Given the description of an element on the screen output the (x, y) to click on. 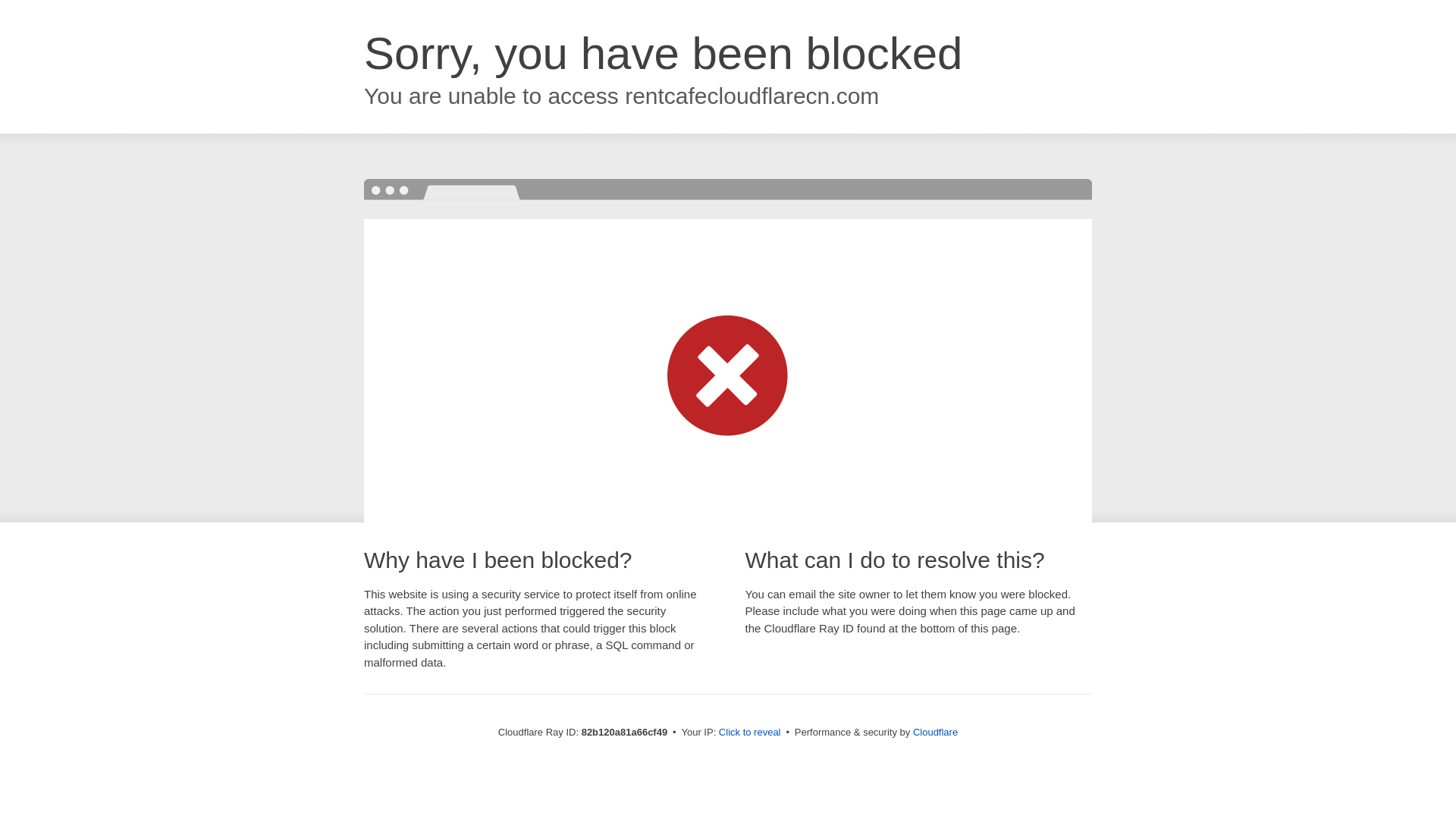
Cloudflare Element type: text (935, 731)
Click to reveal Element type: text (749, 732)
